Given the description of an element on the screen output the (x, y) to click on. 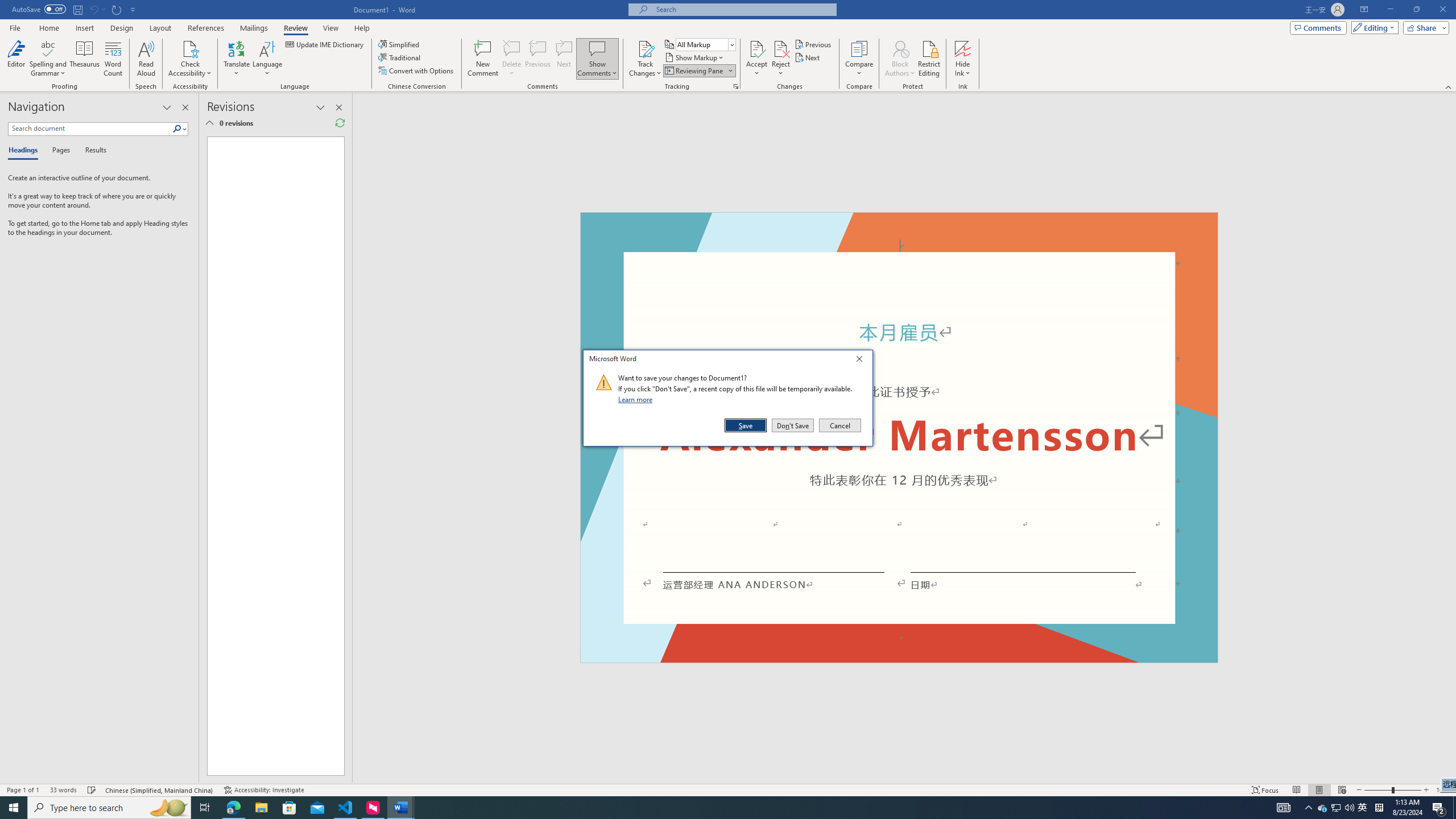
Word Count (113, 58)
View (330, 28)
Zoom 100% (1443, 790)
Help (361, 28)
Home (48, 28)
Microsoft Store (289, 807)
Show Comments (597, 58)
Action Center, 2 new notifications (1439, 807)
Type here to search (108, 807)
More Options (962, 68)
Compare (1362, 807)
Zoom (859, 58)
Collapse the Ribbon (1392, 790)
Search (1448, 86)
